Given the description of an element on the screen output the (x, y) to click on. 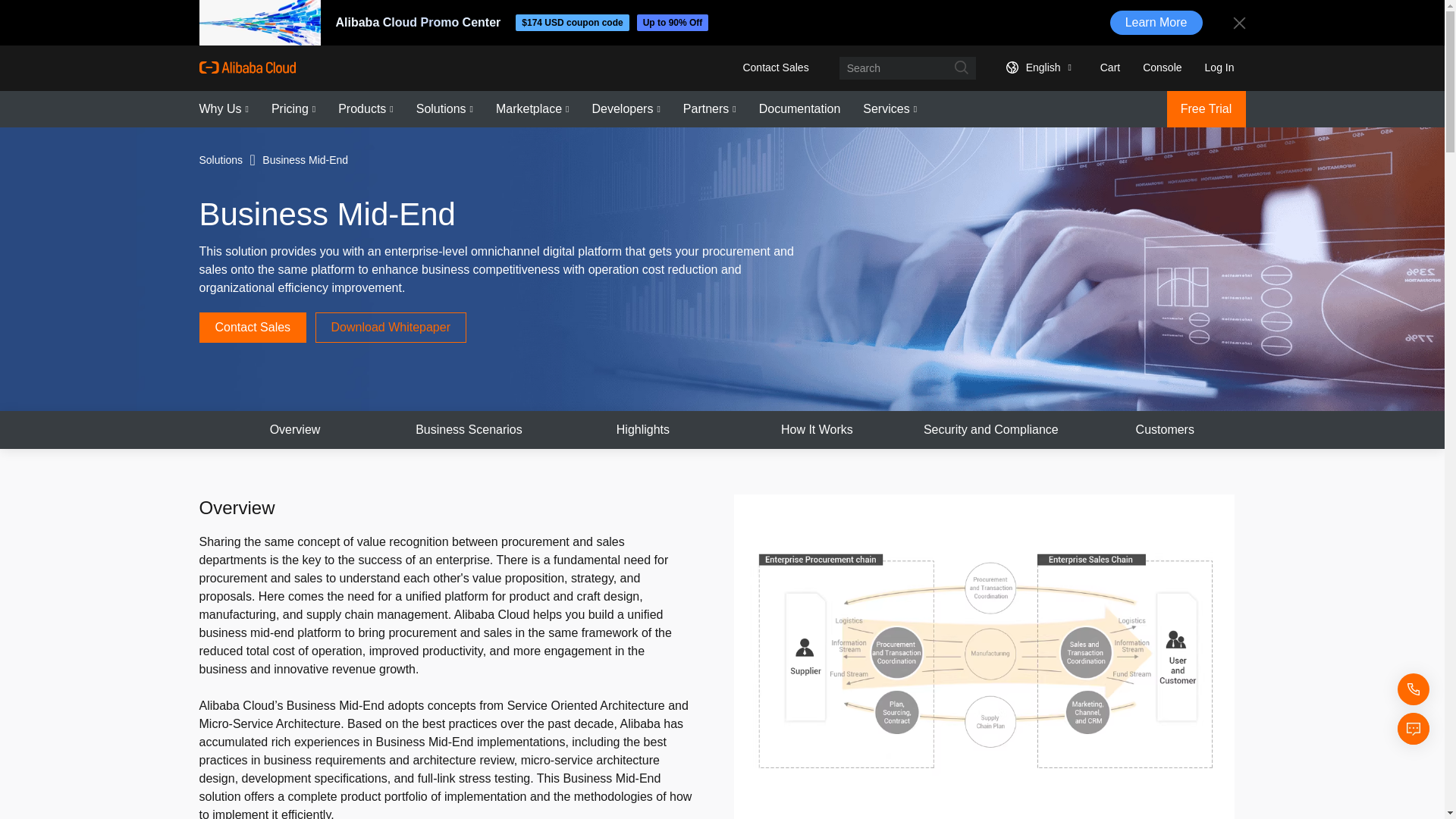
Contact Sales (774, 67)
Alibaba Cloud (246, 67)
English (1035, 67)
